Given the description of an element on the screen output the (x, y) to click on. 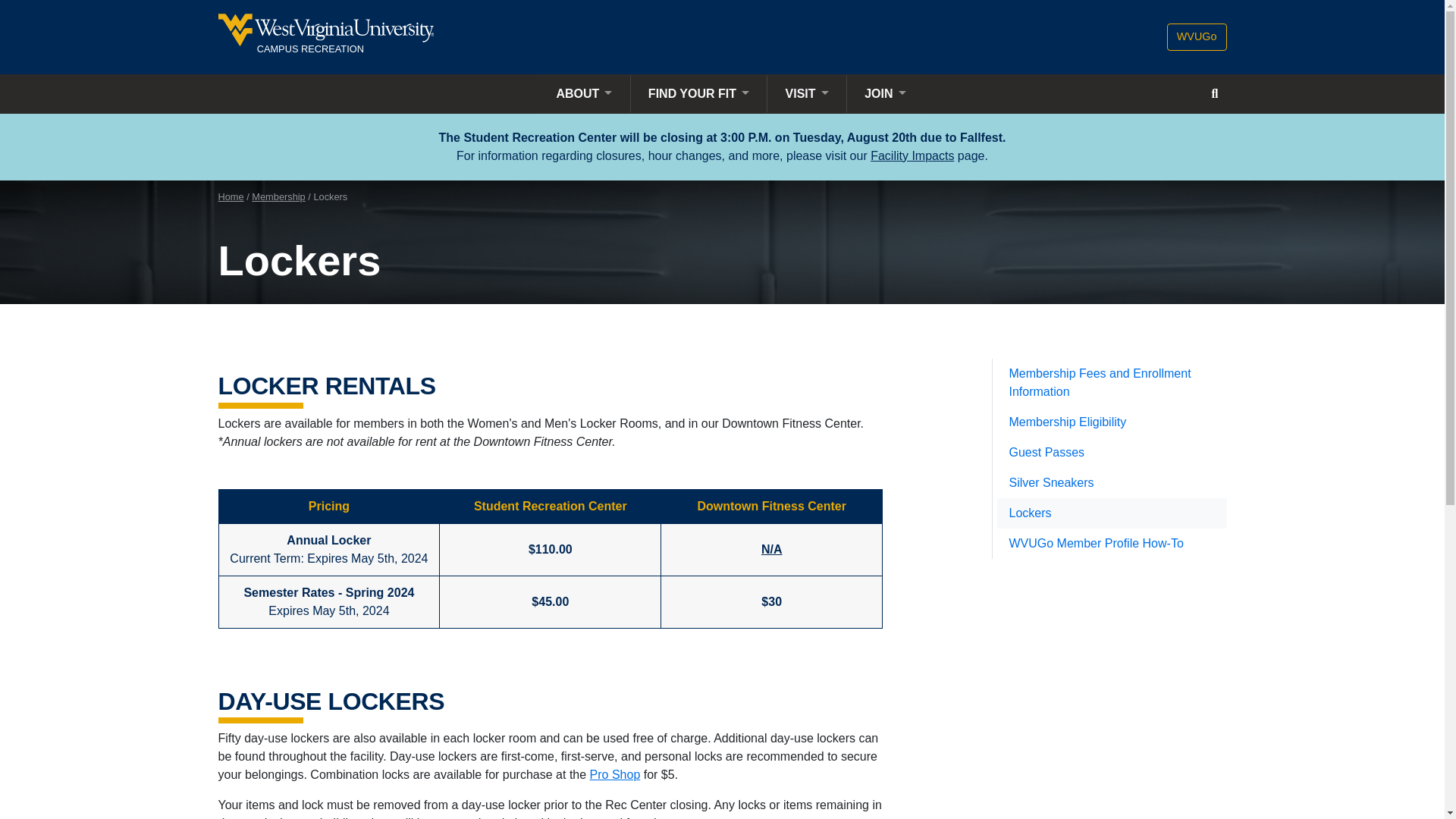
ABOUT (583, 93)
WVUGo (1197, 36)
FIND YOUR FIT (369, 37)
VISIT (699, 93)
